Given the description of an element on the screen output the (x, y) to click on. 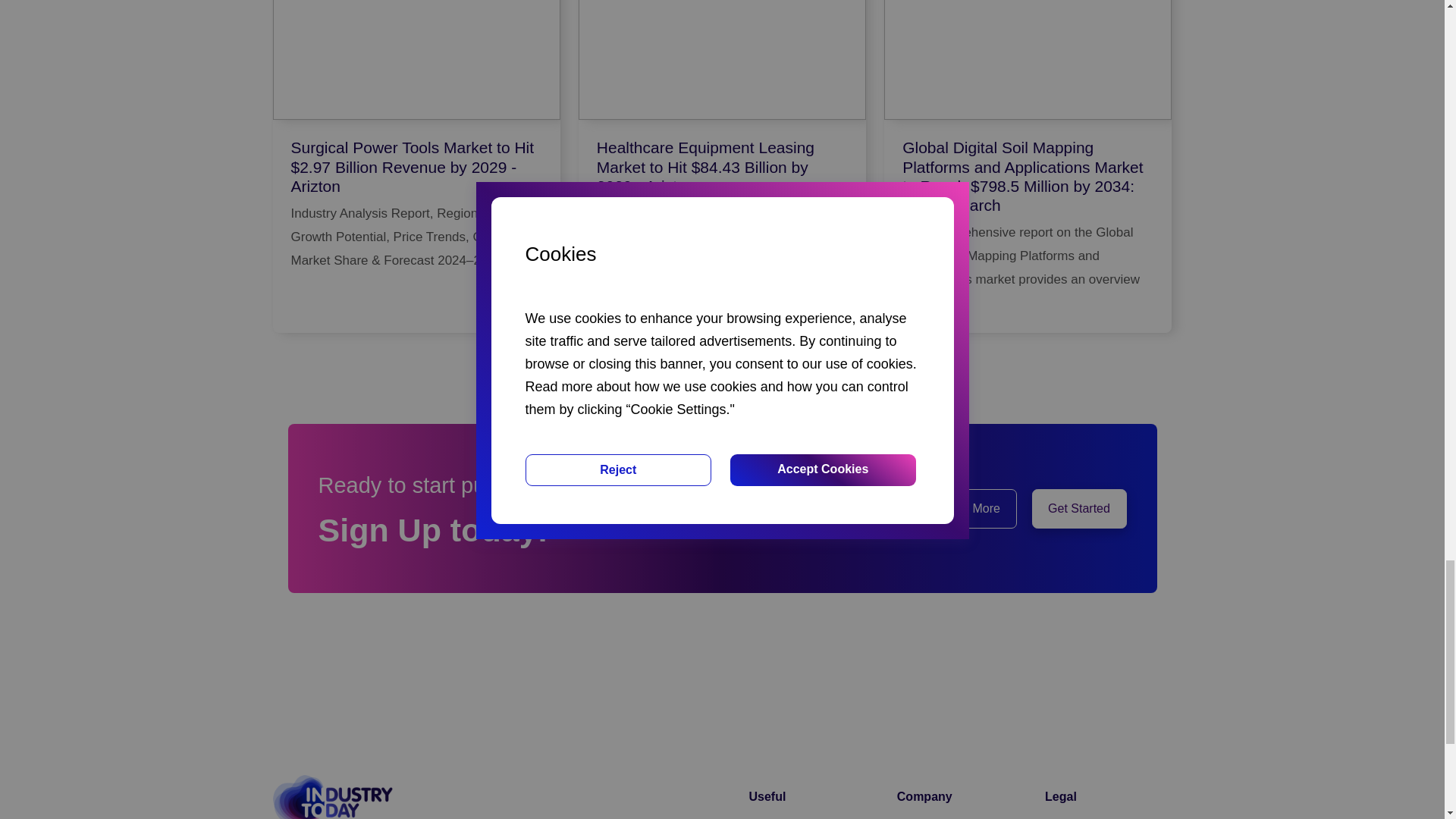
Get Started (1077, 508)
Learn More (968, 508)
